Given the description of an element on the screen output the (x, y) to click on. 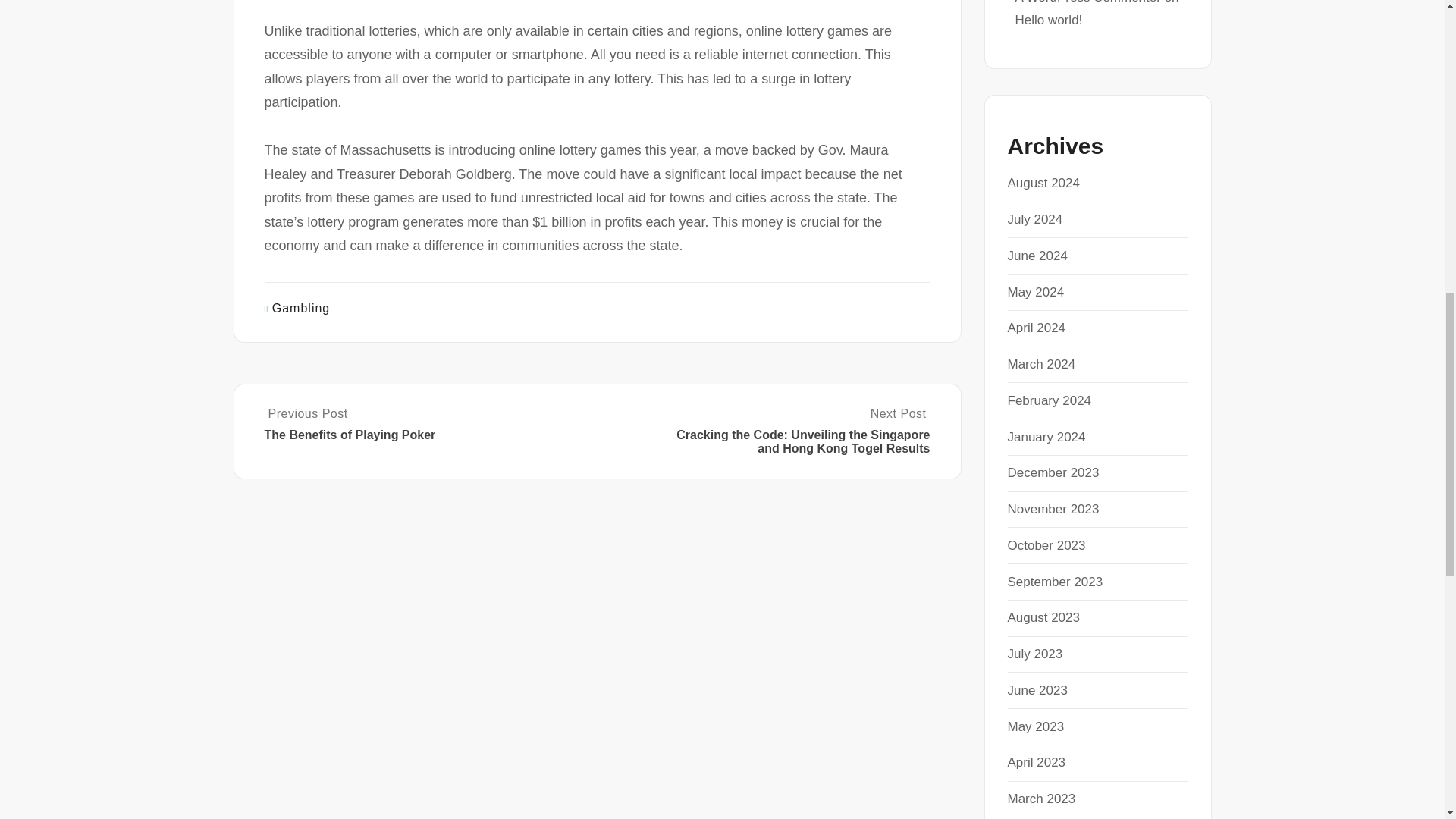
February 2024 (1048, 400)
December 2023 (1053, 472)
July 2023 (1034, 653)
May 2023 (1035, 726)
November 2023 (1053, 509)
April 2024 (1036, 327)
June 2023 (1037, 690)
Gambling (301, 308)
October 2023 (1045, 545)
